Given the description of an element on the screen output the (x, y) to click on. 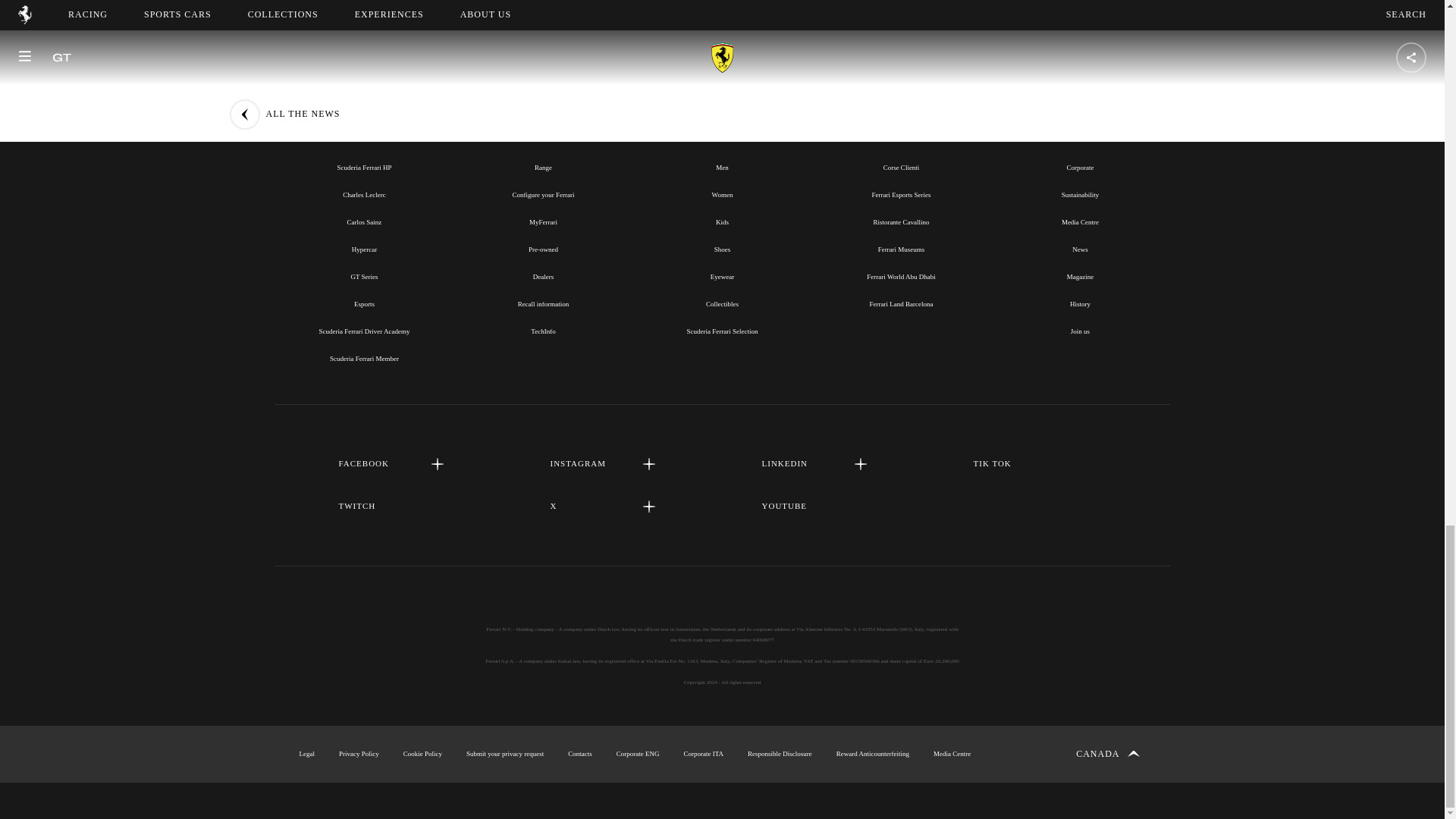
Hypercar (364, 249)
Kids (722, 222)
GT Series (363, 276)
Carlos Sainz (364, 222)
Scuderia Ferrari Driver Academy (363, 330)
Charles Leclerc (363, 194)
Scuderia Ferrari Member (364, 358)
Recall information (543, 303)
MyFerrari (543, 222)
Esports (363, 303)
